Given the description of an element on the screen output the (x, y) to click on. 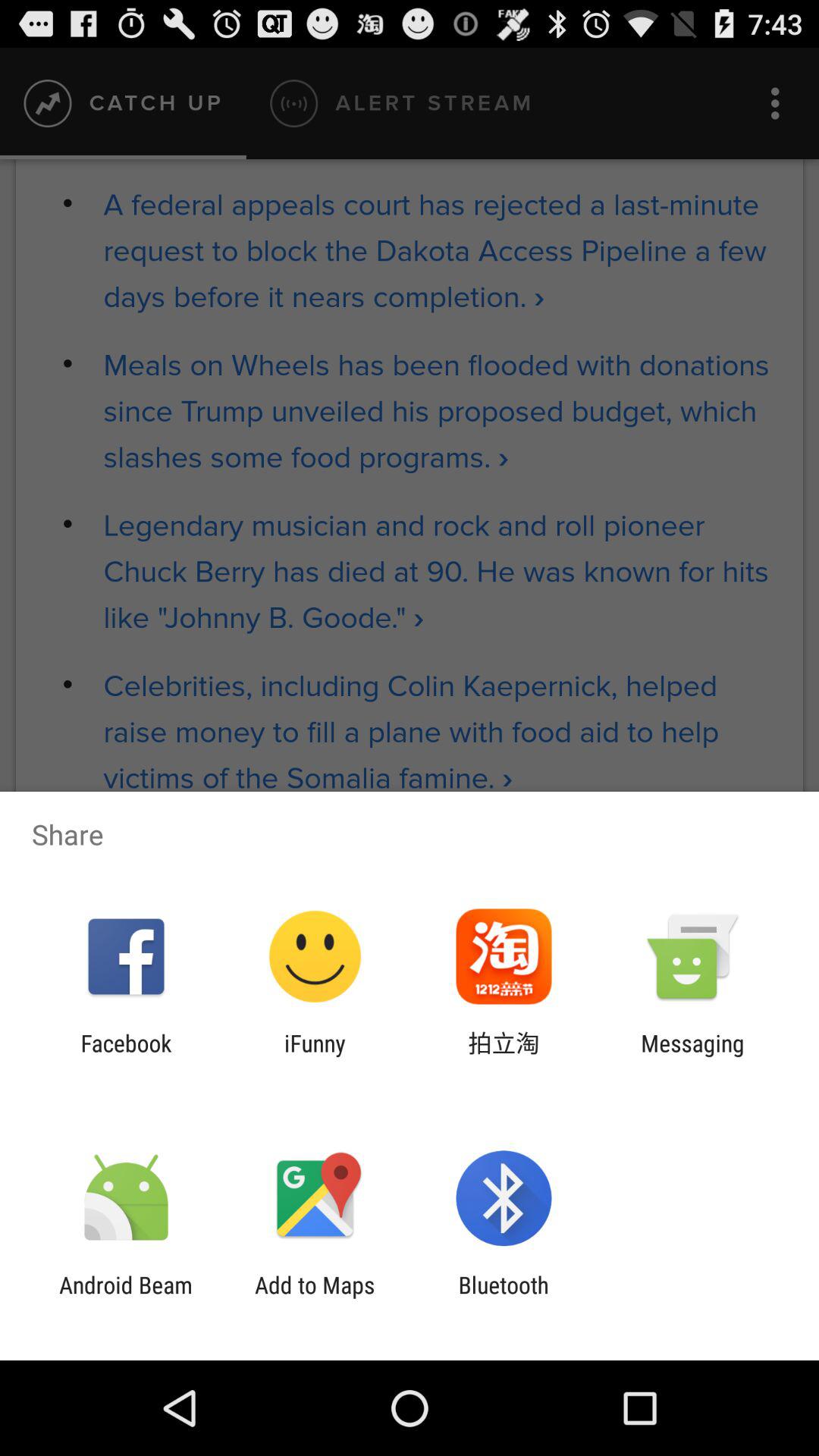
open bluetooth (503, 1298)
